Given the description of an element on the screen output the (x, y) to click on. 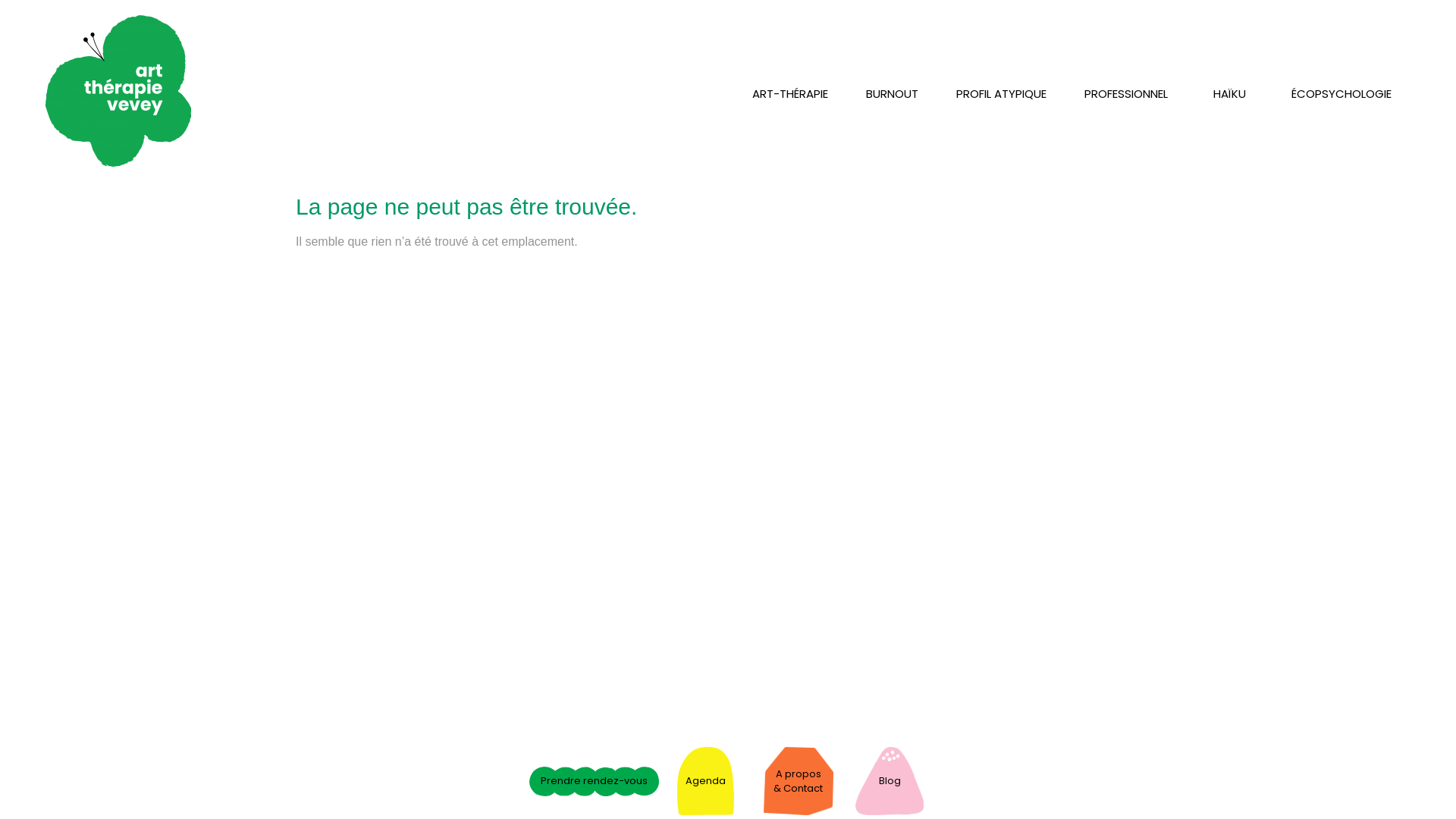
PROFIL ATYPIQUE Element type: text (1000, 93)
BURNOUT Element type: text (891, 93)
PROFESSIONNEL Element type: text (1126, 93)
